Given the description of an element on the screen output the (x, y) to click on. 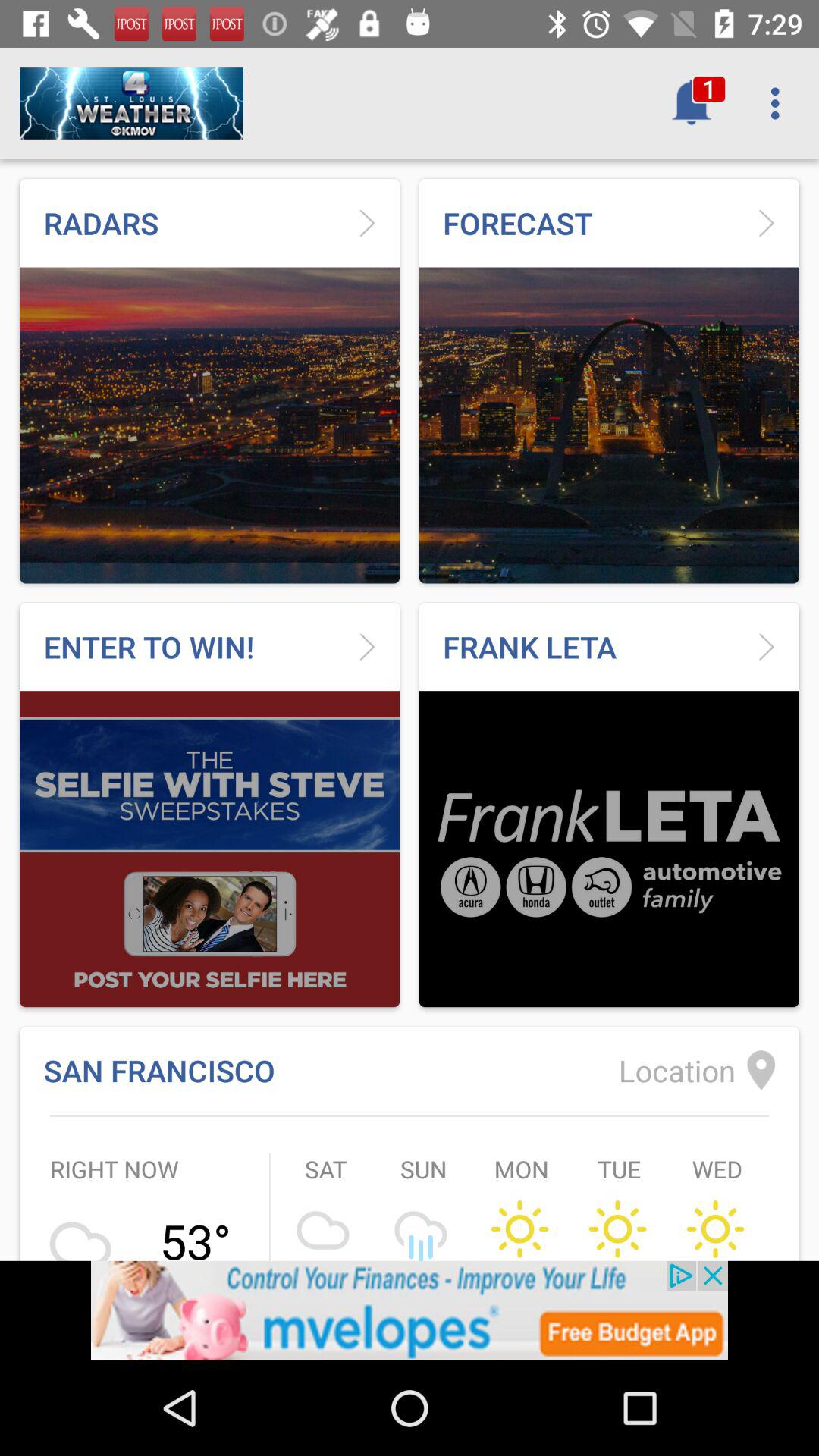
select the image below forecast (609, 425)
